Given the description of an element on the screen output the (x, y) to click on. 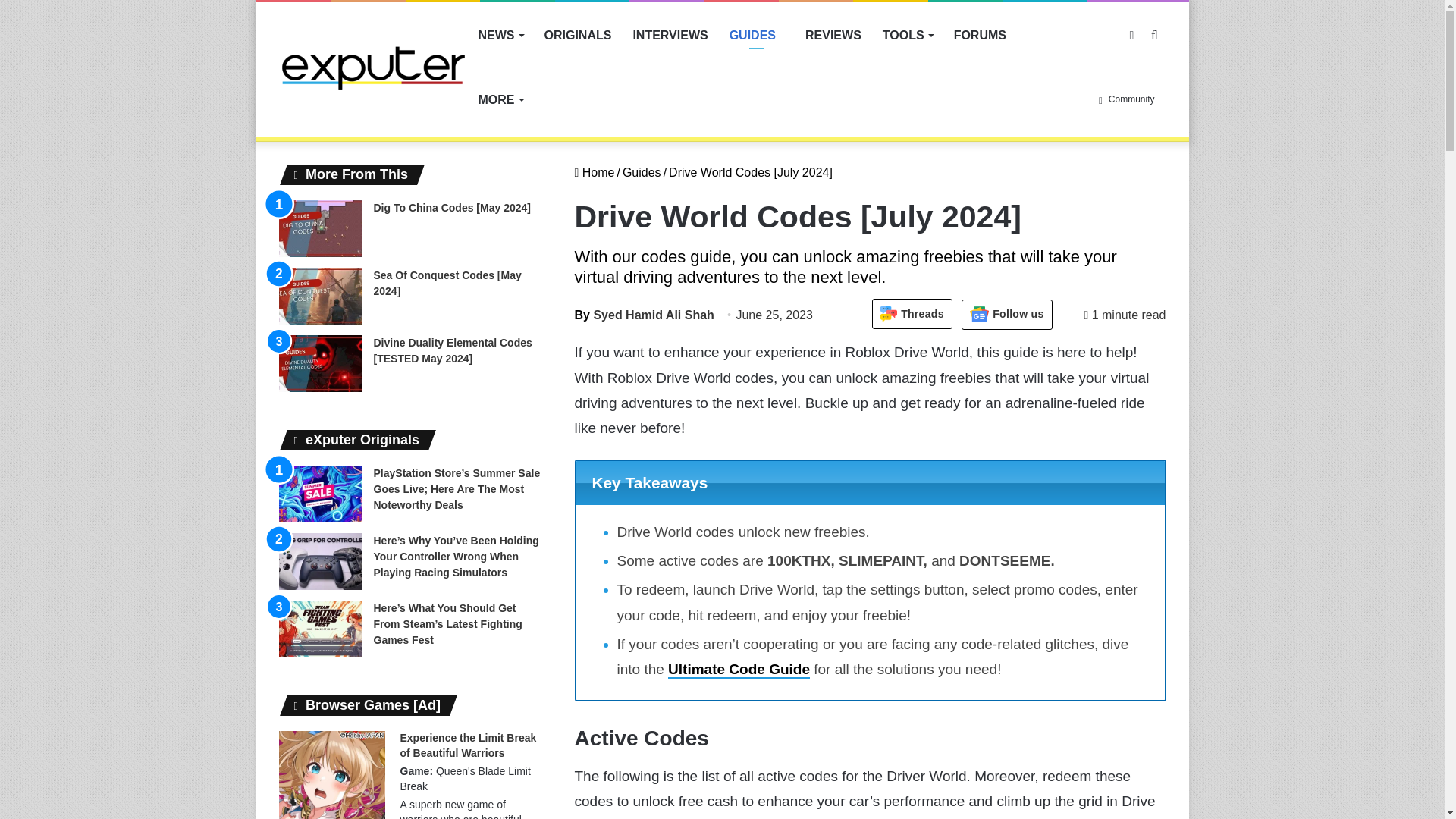
Switch skin (1131, 35)
GUIDES (756, 35)
TOOLS (907, 35)
NEWS (499, 35)
Syed Hamid Ali Shah (644, 314)
MORE (499, 99)
ORIGINALS (578, 35)
INTERVIEWS (669, 35)
REVIEWS (833, 35)
eXputer.com (373, 66)
FORUMS (979, 35)
